Given the description of an element on the screen output the (x, y) to click on. 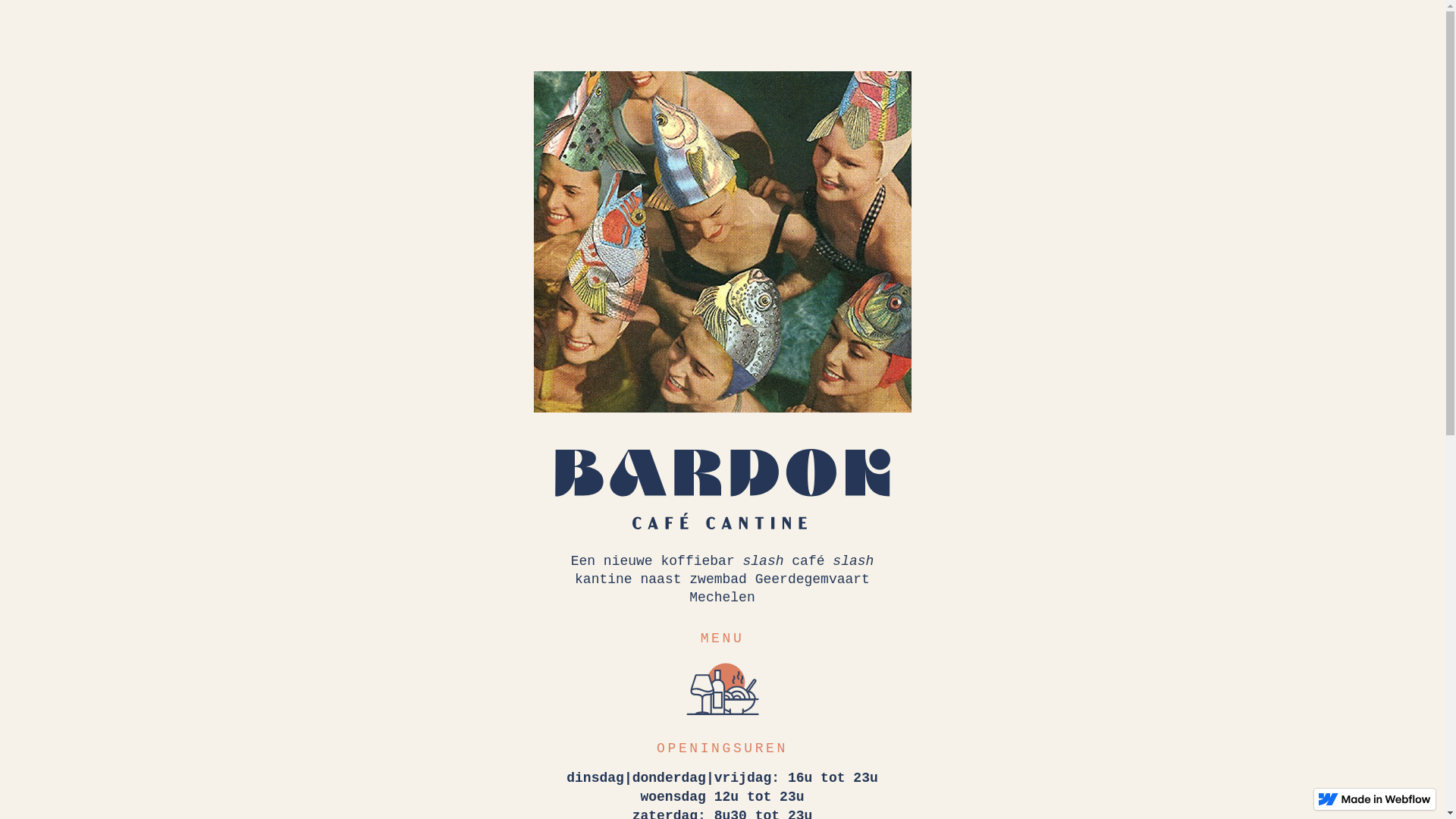
MENU Element type: text (722, 638)
